Given the description of an element on the screen output the (x, y) to click on. 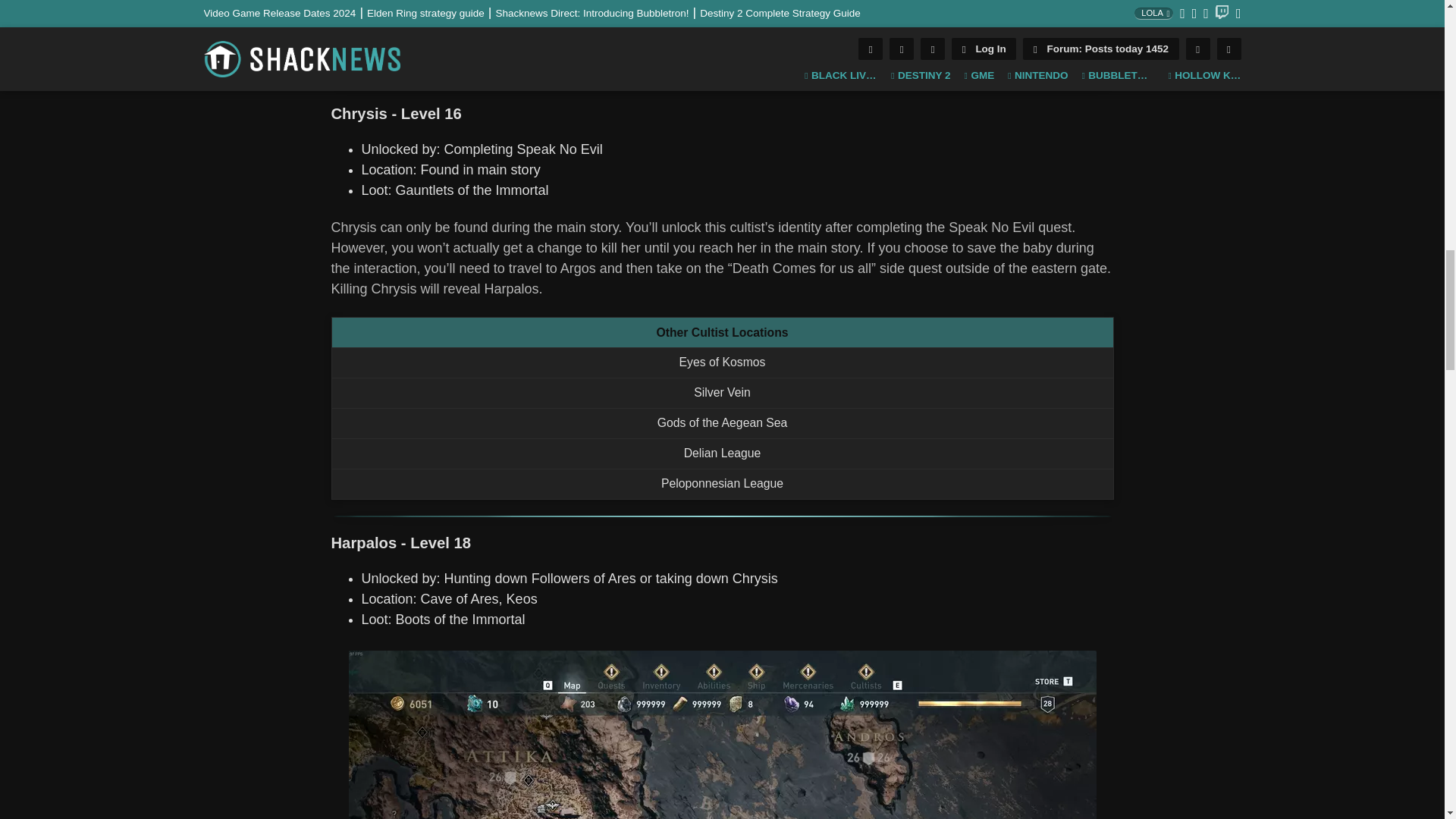
Assassin's Creed Odyssey - Harpalos location (722, 734)
